Given the description of an element on the screen output the (x, y) to click on. 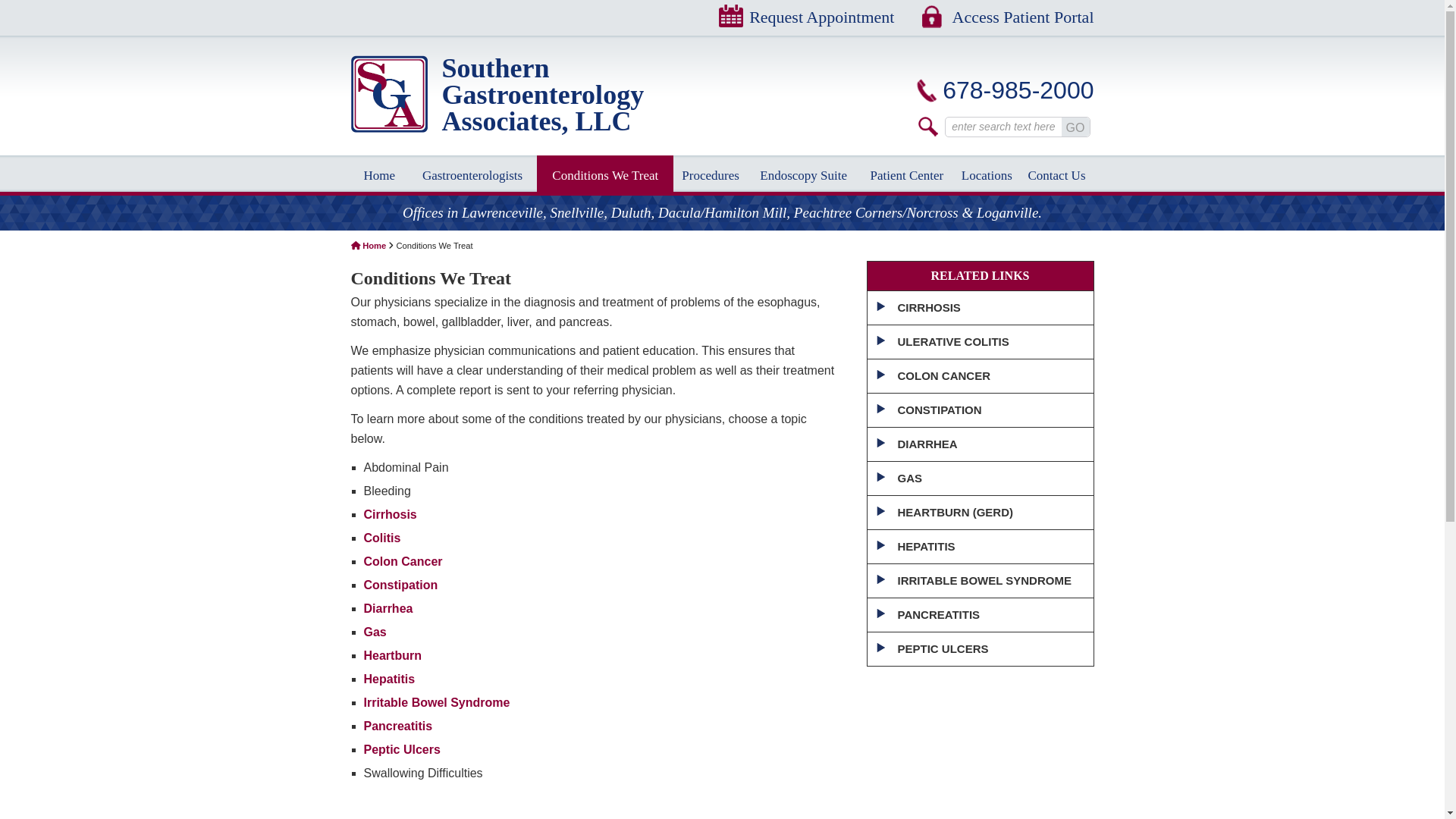
Hepatitis (389, 678)
COLON CANCER (980, 376)
Endoscopy Suite (804, 175)
Request Appointment (806, 17)
Lawrenceville (502, 212)
Contact Us (1057, 175)
Colitis (382, 537)
CONSTIPATION (980, 410)
Access Patient Portal (1007, 17)
Procedures (709, 175)
Conditions We Treat (604, 175)
IRRITABLE BOWEL SYNDROME (980, 581)
